Given the description of an element on the screen output the (x, y) to click on. 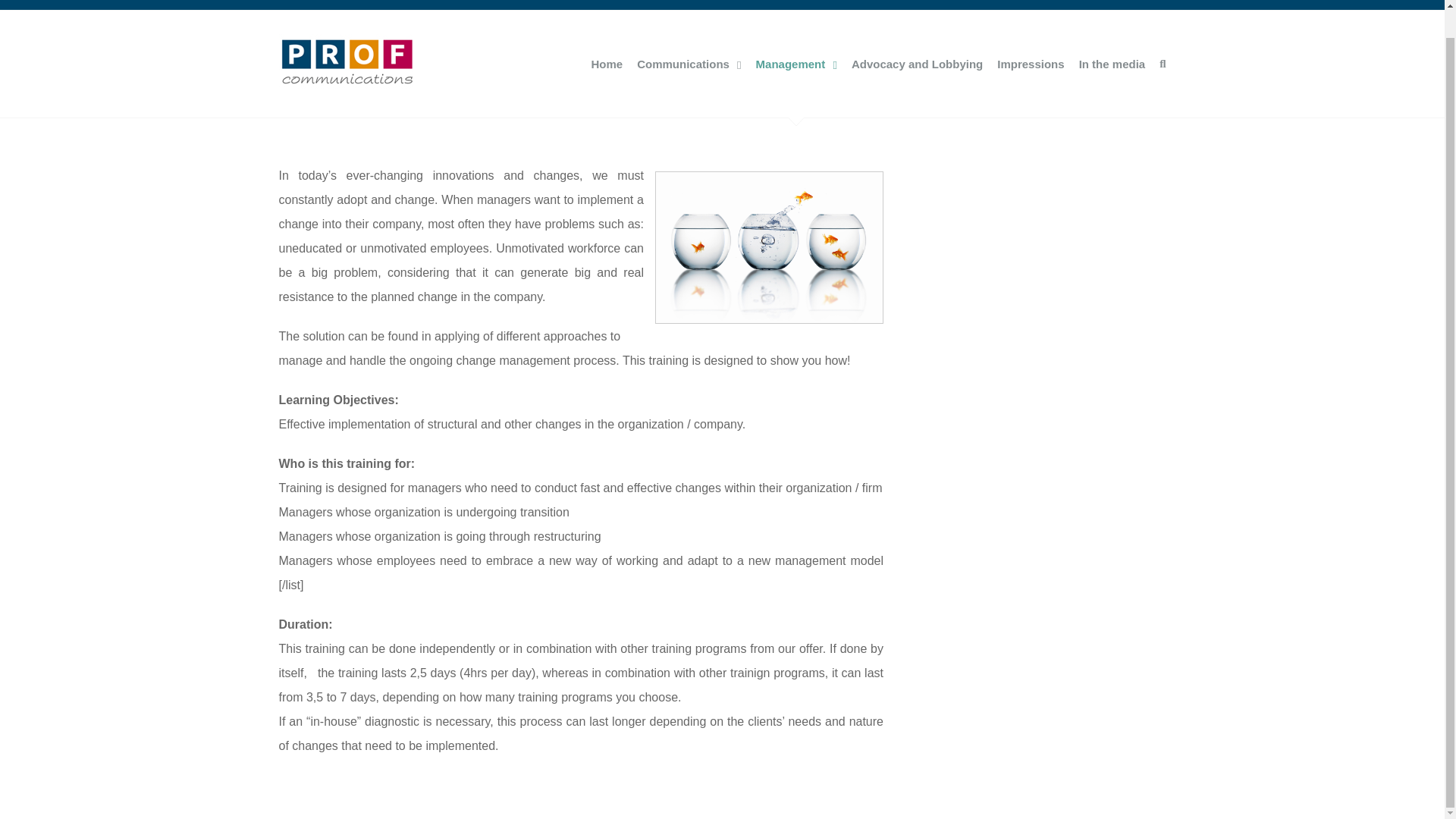
Twitter (1033, 746)
Facebook (1002, 746)
Copyright Terms and Conditions (537, 748)
Linkedin (1094, 746)
Twitter (1033, 746)
Instagram (1063, 746)
About us (306, 3)
Bosanski (1154, 747)
Advocacy and Lobbying (916, 63)
Communications (689, 63)
